Given the description of an element on the screen output the (x, y) to click on. 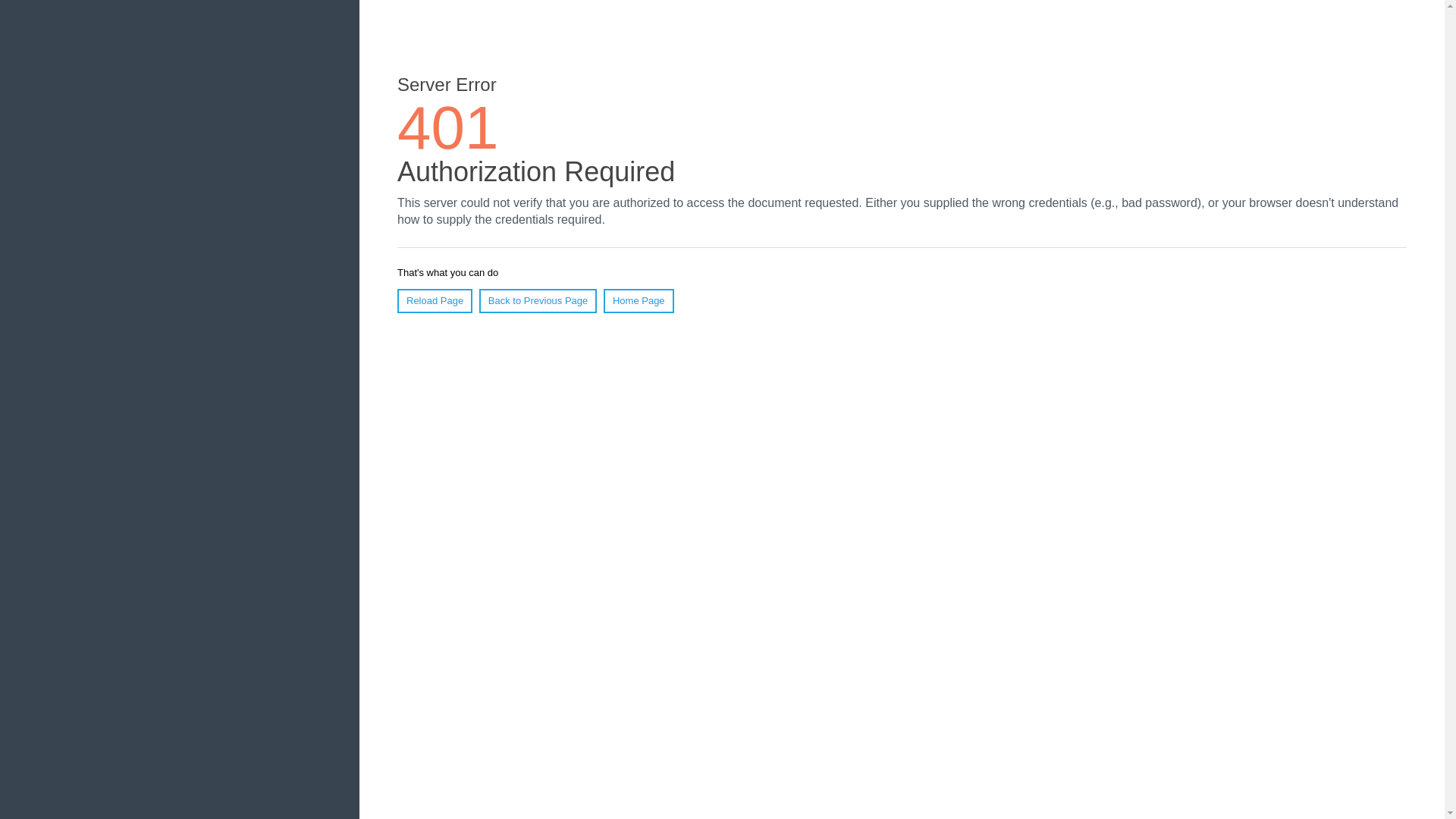
Back to Previous Page Element type: text (538, 300)
Reload Page Element type: text (434, 300)
Home Page Element type: text (638, 300)
